Given the description of an element on the screen output the (x, y) to click on. 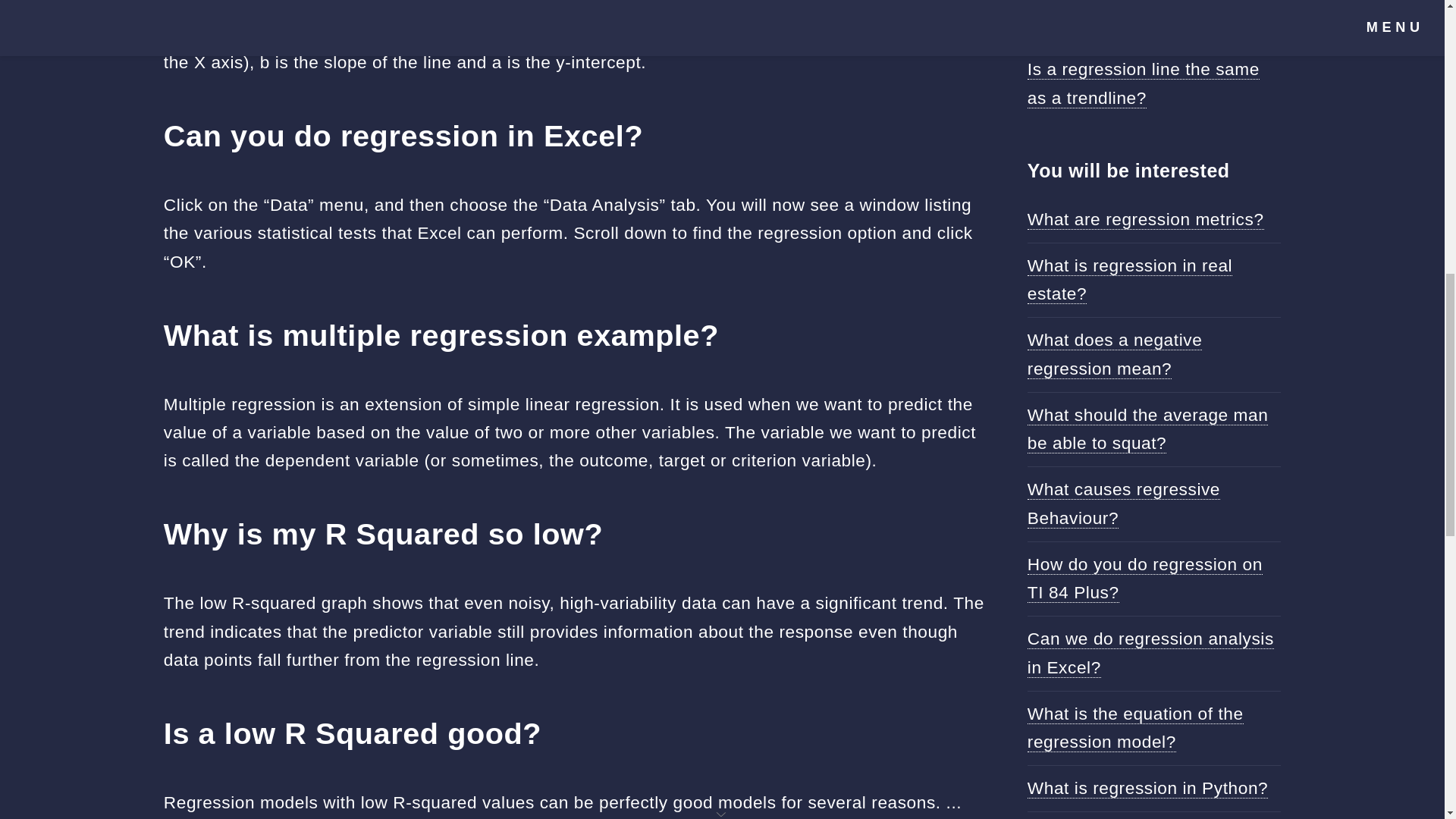
What should the average man be able to squat? (1147, 428)
What is a regression model in Excel? (1146, 16)
What does a negative regression mean? (1114, 354)
What is regression in Python? (1147, 788)
What causes regressive Behaviour? (1123, 503)
What is regression in real estate? (1129, 279)
Is a regression line the same as a trendline? (1143, 82)
How do you do regression on TI 84 Plus? (1144, 578)
What are regression metrics? (1145, 219)
Can we do regression analysis in Excel? (1150, 652)
